Given the description of an element on the screen output the (x, y) to click on. 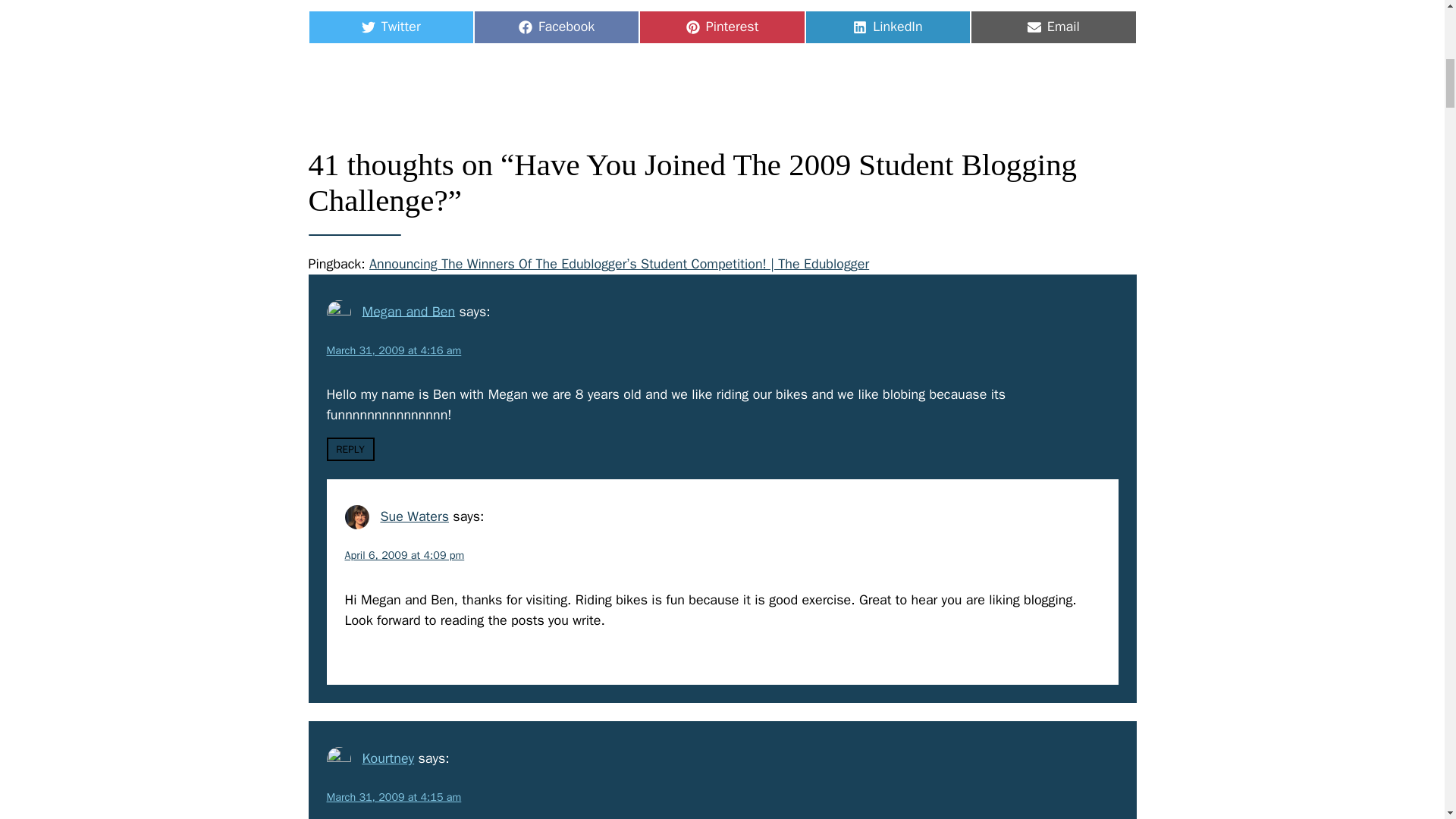
REPLY (350, 449)
Megan and Ben (556, 27)
Kourtney (407, 310)
Sue Waters (722, 27)
April 6, 2009 at 4:09 pm (1053, 27)
March 31, 2009 at 4:15 am (387, 758)
REPLY (888, 27)
March 31, 2009 at 4:16 am (414, 515)
